Given the description of an element on the screen output the (x, y) to click on. 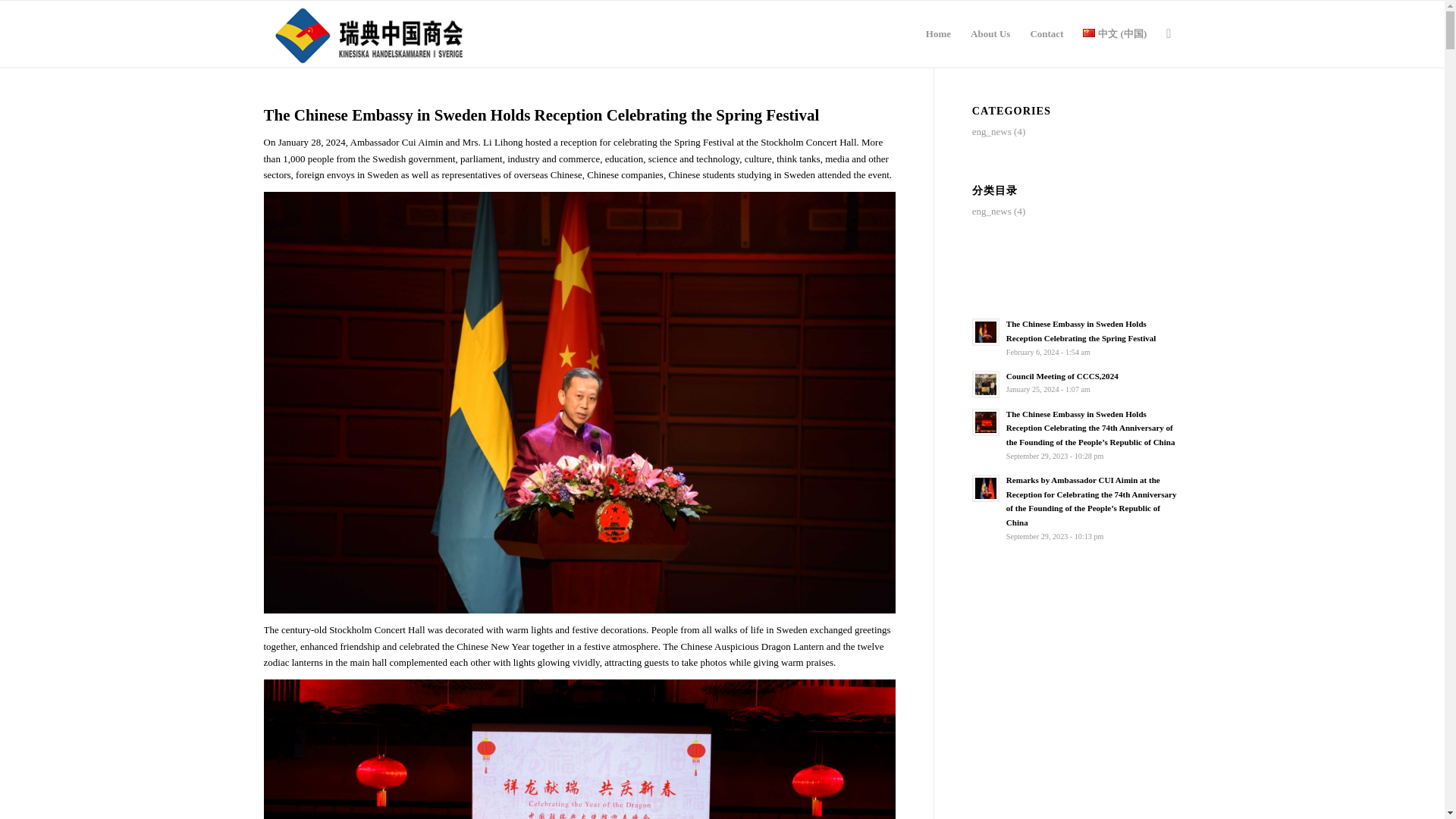
Council Meeting of CCCS,2024 (1062, 375)
2 (371, 33)
